Given the description of an element on the screen output the (x, y) to click on. 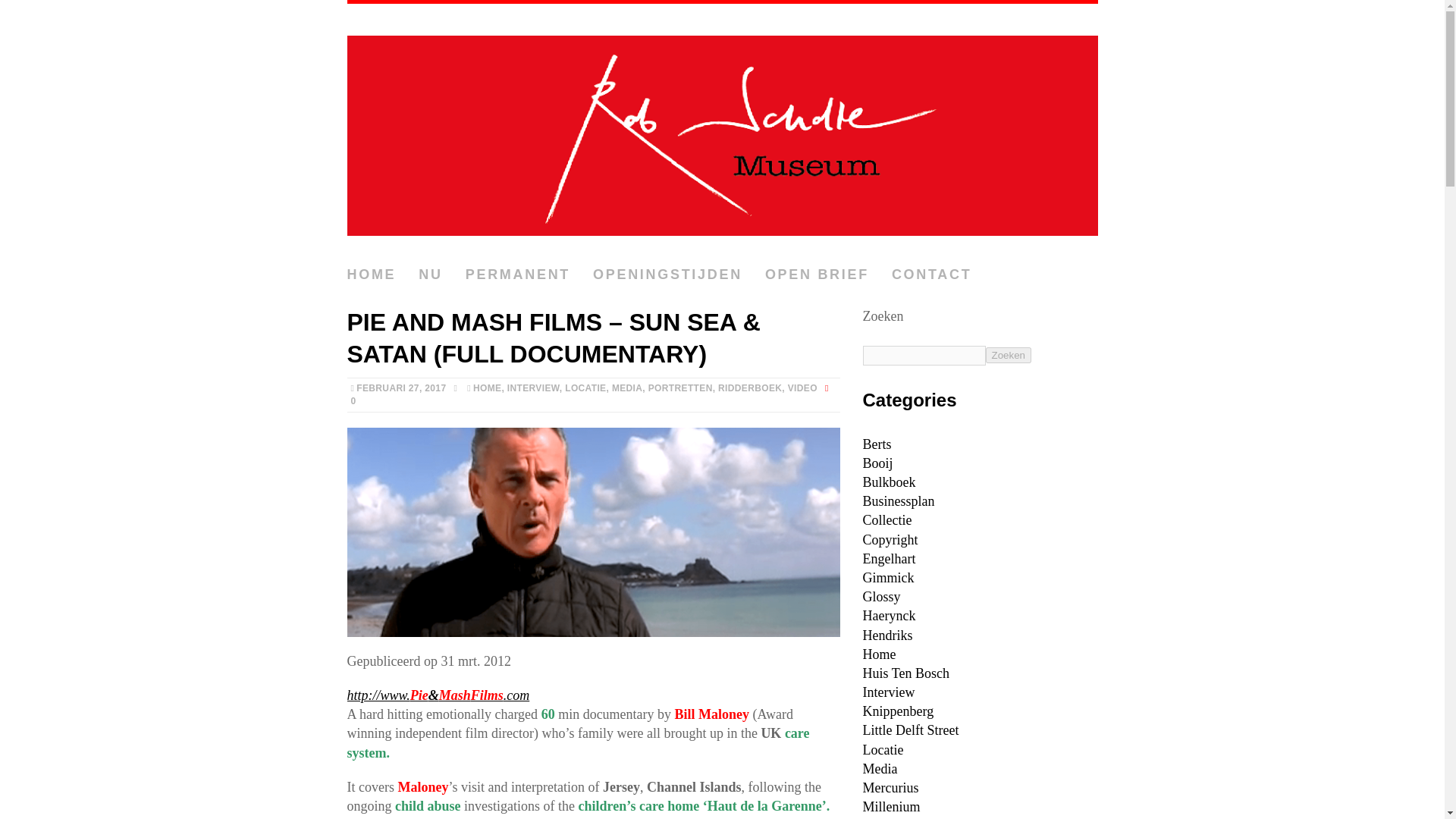
OPENINGSTIJDEN (667, 274)
OPEN BRIEF (817, 274)
CONTACT (931, 274)
VIDEO (801, 388)
Bulkboek (889, 482)
MEDIA (626, 388)
Businessplan (898, 500)
HOME (486, 388)
Zoeken (1007, 355)
Berts (877, 444)
